Given the description of an element on the screen output the (x, y) to click on. 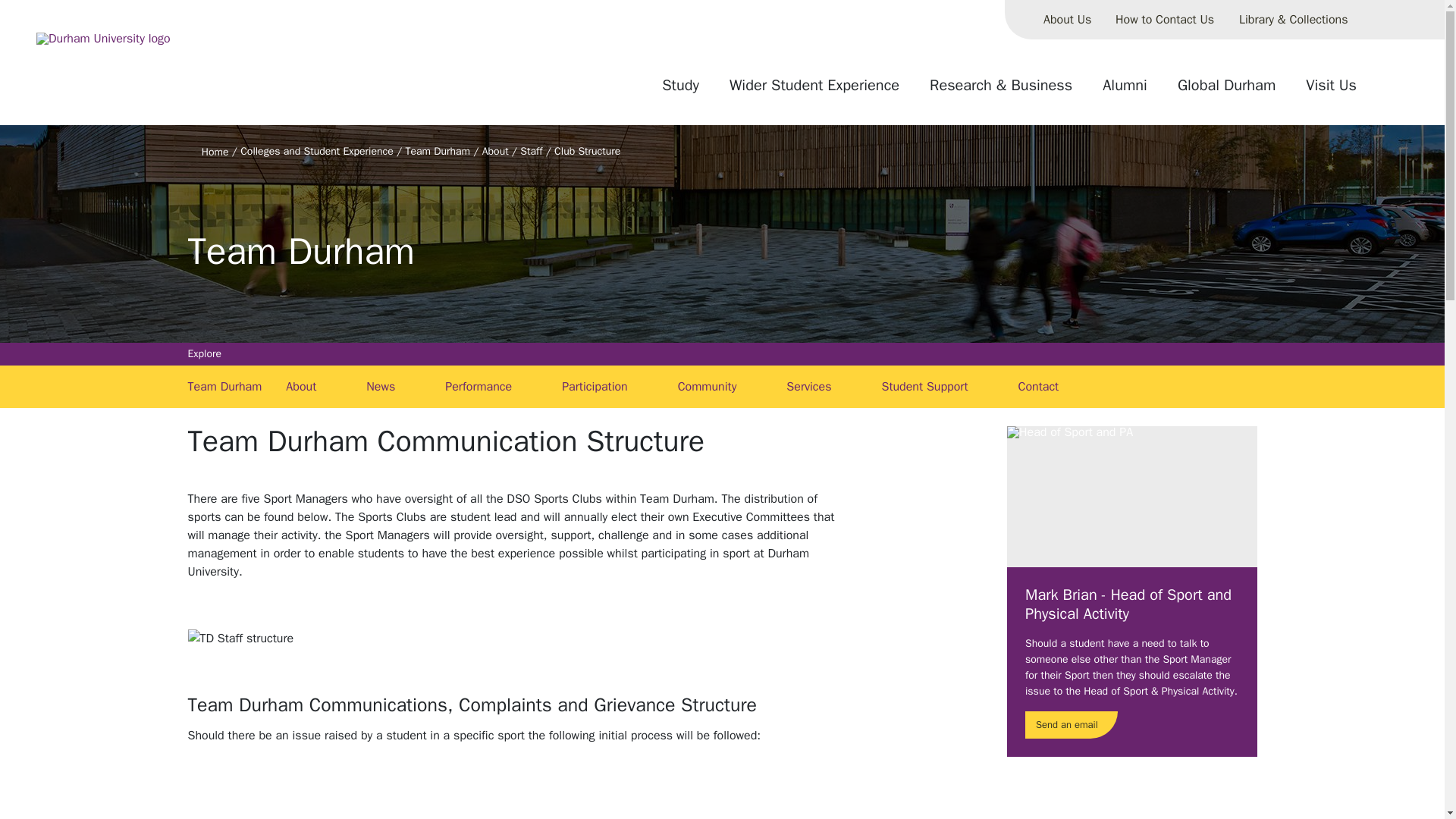
Alumni (1124, 91)
Visit Us (1331, 91)
Study (680, 91)
About Us (1066, 19)
Global Durham (1226, 91)
Wider Student Experience (814, 91)
How to Contact Us (1164, 19)
